Given the description of an element on the screen output the (x, y) to click on. 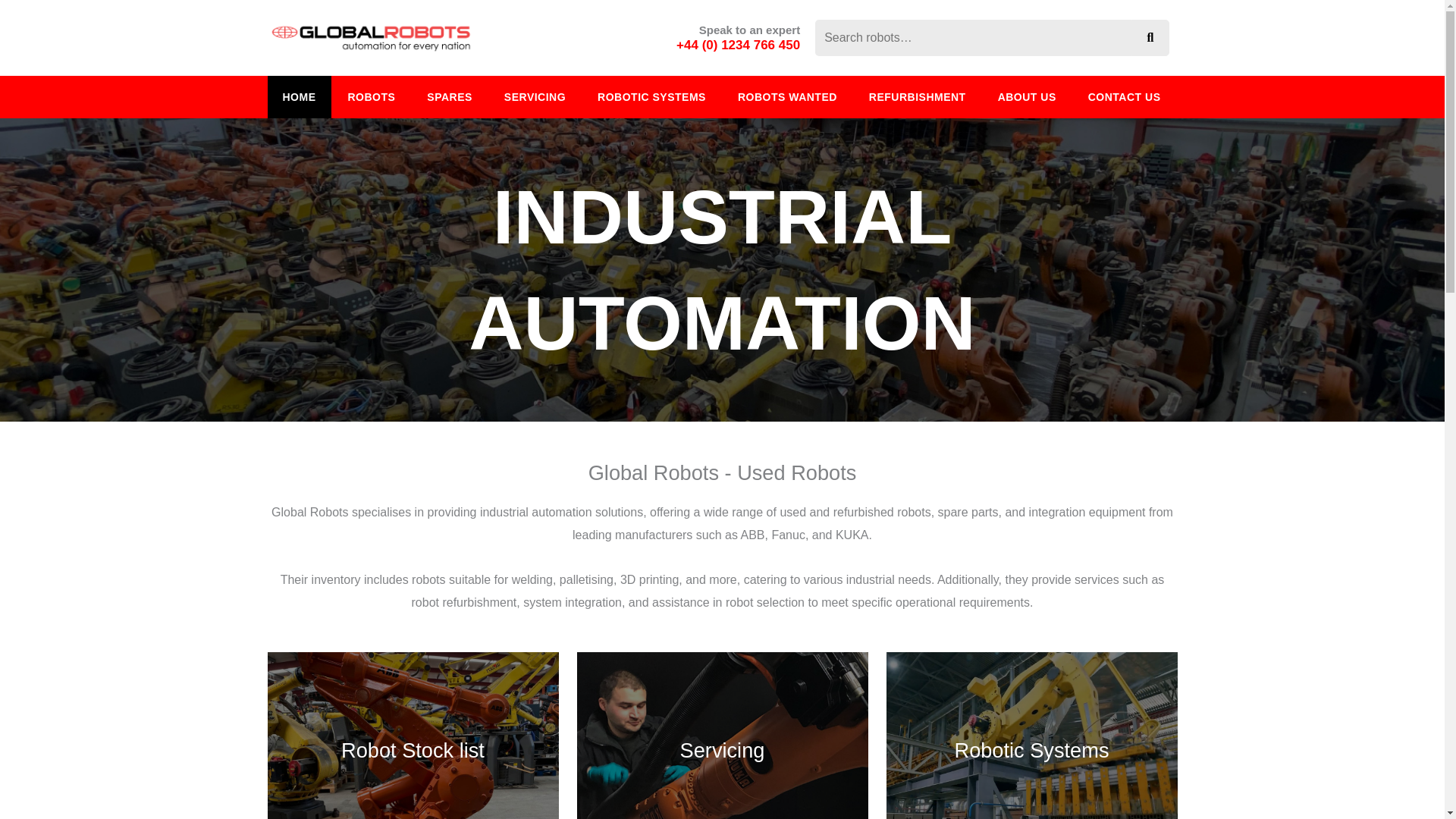
Search (1150, 37)
ROBOTS (370, 96)
ROBOTIC SYSTEMS (651, 96)
HOME (298, 96)
SPARES (449, 96)
ROBOTS WANTED (786, 96)
CONTACT US (1124, 96)
Robot Stock list (411, 735)
REFURBISHMENT (917, 96)
ABOUT US (1026, 96)
SERVICING (534, 96)
Robotic Systems (1030, 735)
Servicing (721, 735)
